Given the description of an element on the screen output the (x, y) to click on. 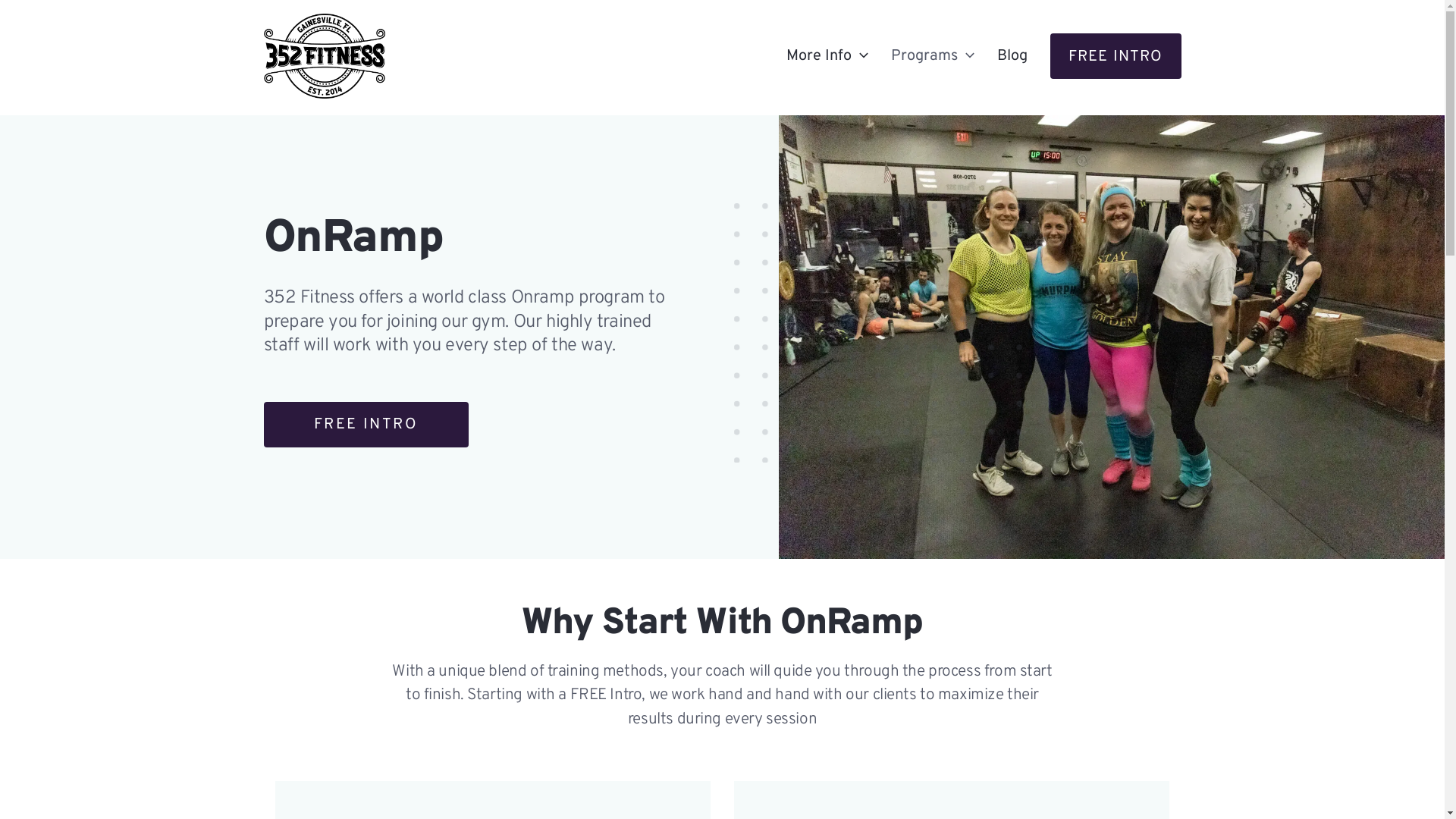
More Info Element type: text (827, 55)
FREE INTRO Element type: text (365, 424)
Blog Element type: text (1011, 55)
Programs Element type: text (932, 55)
FREE INTRO Element type: text (1114, 55)
